Given the description of an element on the screen output the (x, y) to click on. 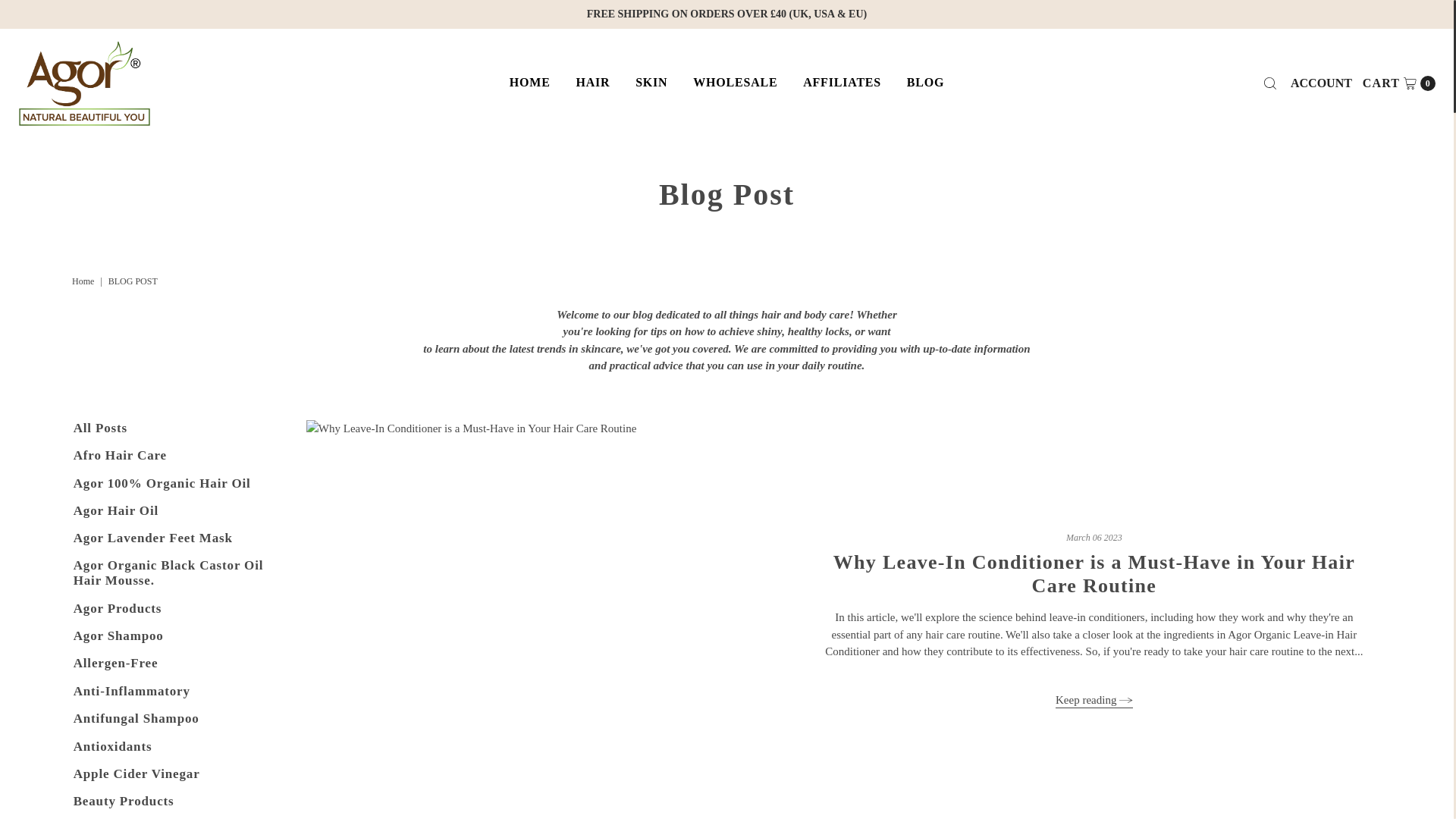
ACCOUNT (1321, 83)
Agor Lavender Feet Mask (153, 537)
BLOG (925, 82)
HAIR (592, 82)
Agor Hair Oil (116, 510)
Home (84, 281)
Agor Organic Black Castor Oil Hair Mousse. (168, 572)
AFFILIATES (842, 82)
SKIN (1398, 83)
